Given the description of an element on the screen output the (x, y) to click on. 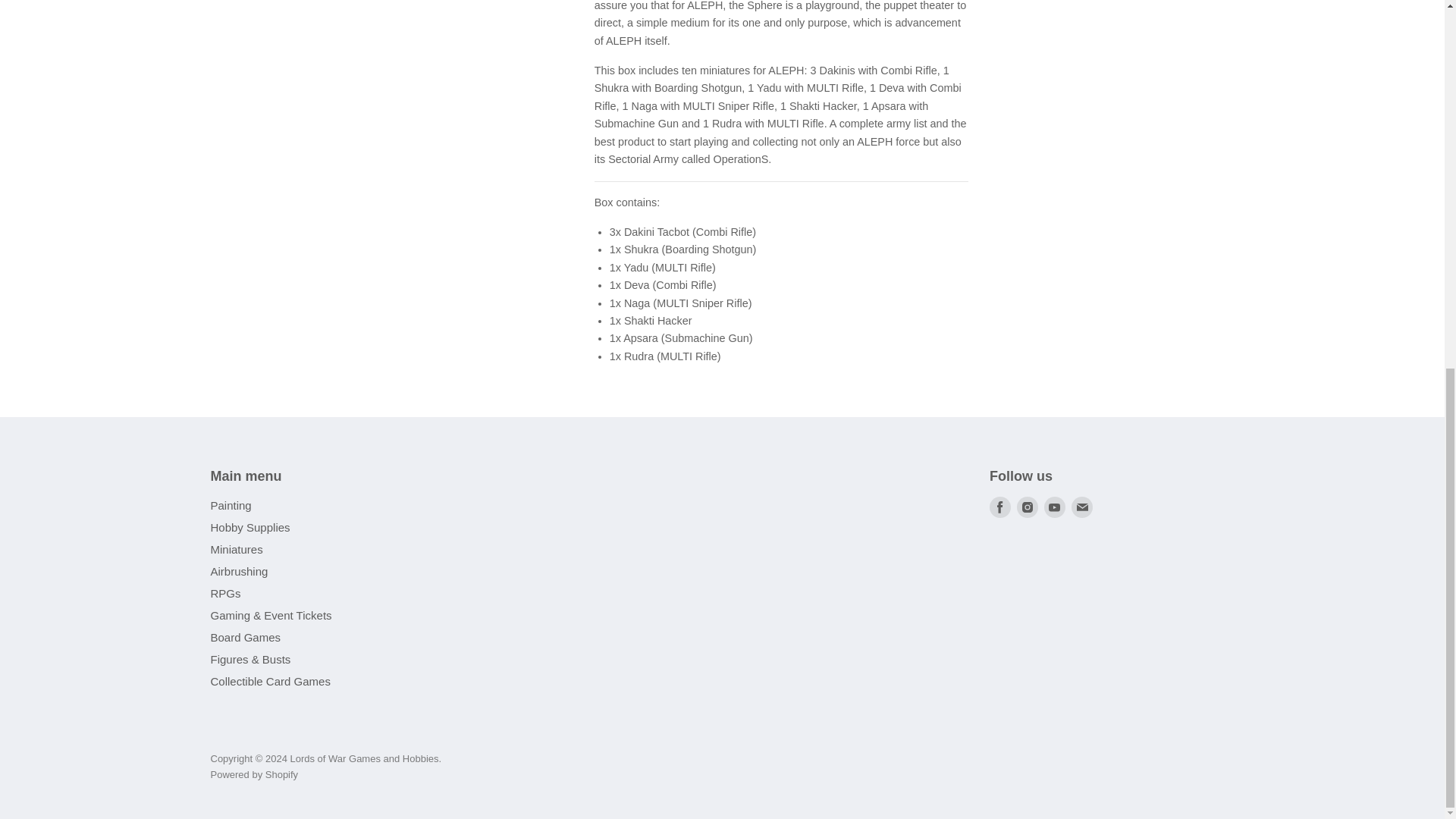
Instagram (1027, 506)
Youtube (1054, 506)
Email (1082, 506)
Facebook (1000, 506)
